Given the description of an element on the screen output the (x, y) to click on. 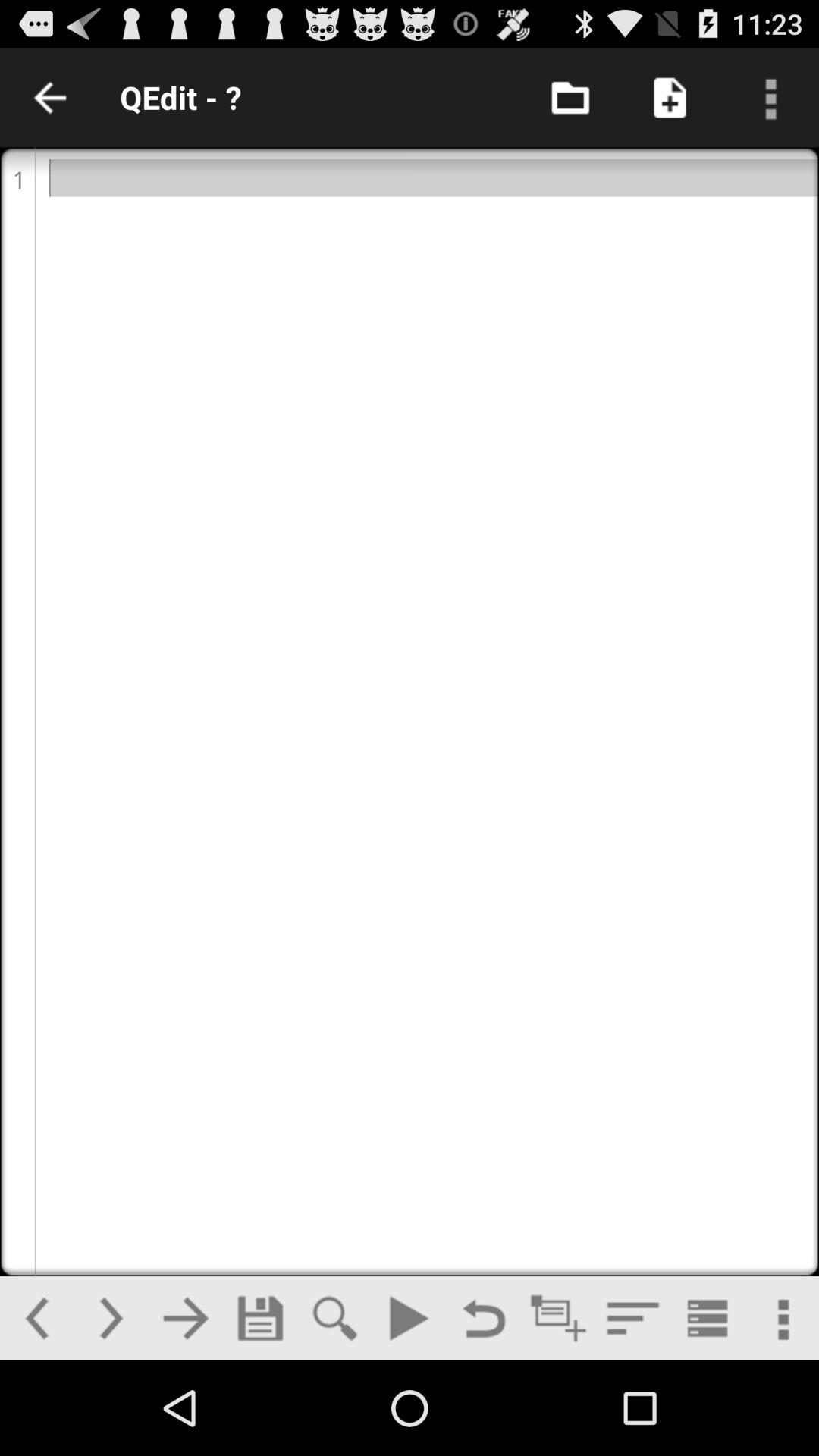
go back (483, 1318)
